Given the description of an element on the screen output the (x, y) to click on. 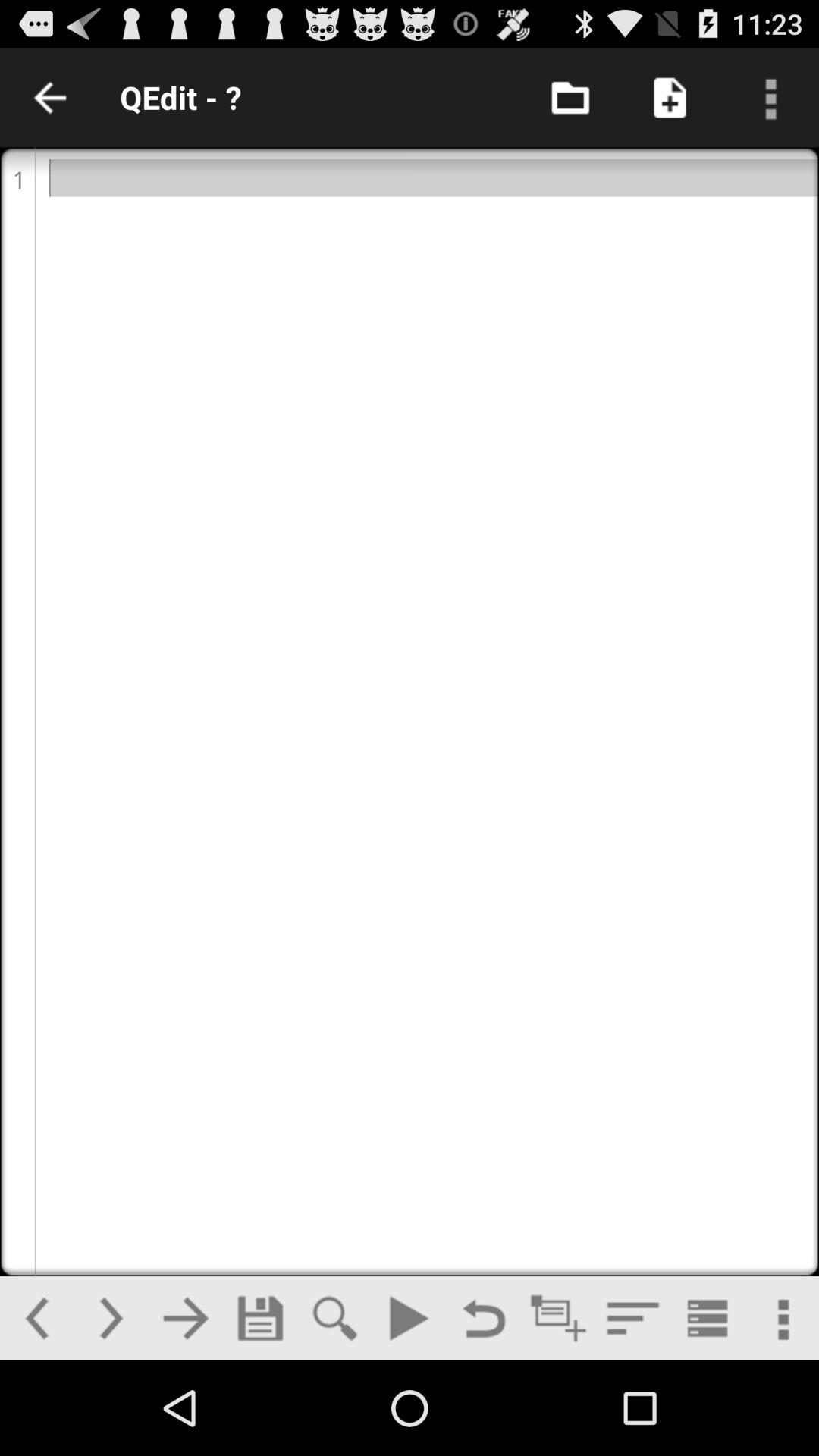
go back (483, 1318)
